Given the description of an element on the screen output the (x, y) to click on. 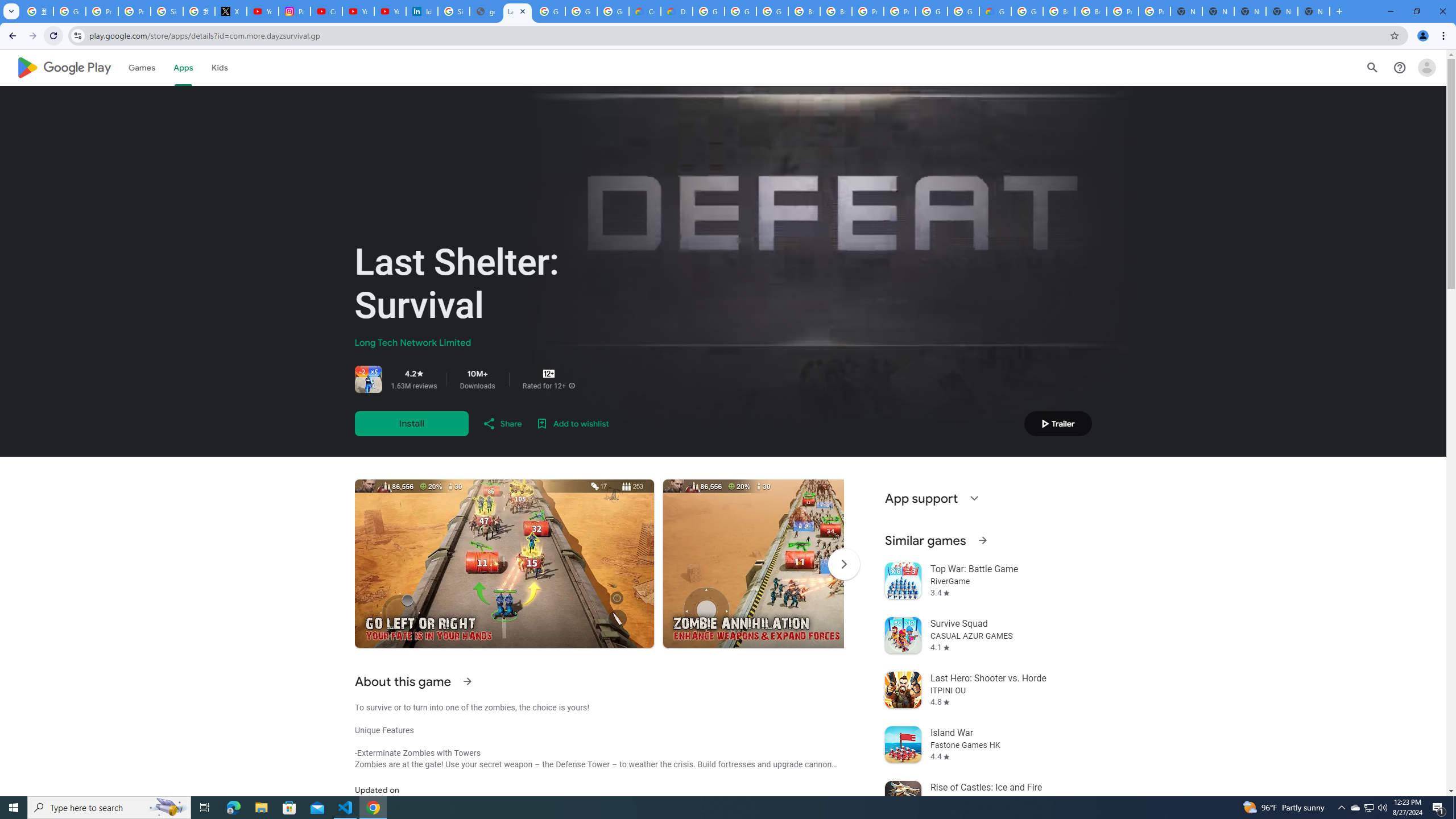
See more information on Similar games (981, 539)
Apps (182, 67)
More info about this content rating (571, 385)
YouTube Culture & Trends - YouTube Top 10, 2021 (389, 11)
Share (502, 422)
Browse Chrome as a guest - Computer - Google Chrome Help (804, 11)
Install (410, 423)
